Given the description of an element on the screen output the (x, y) to click on. 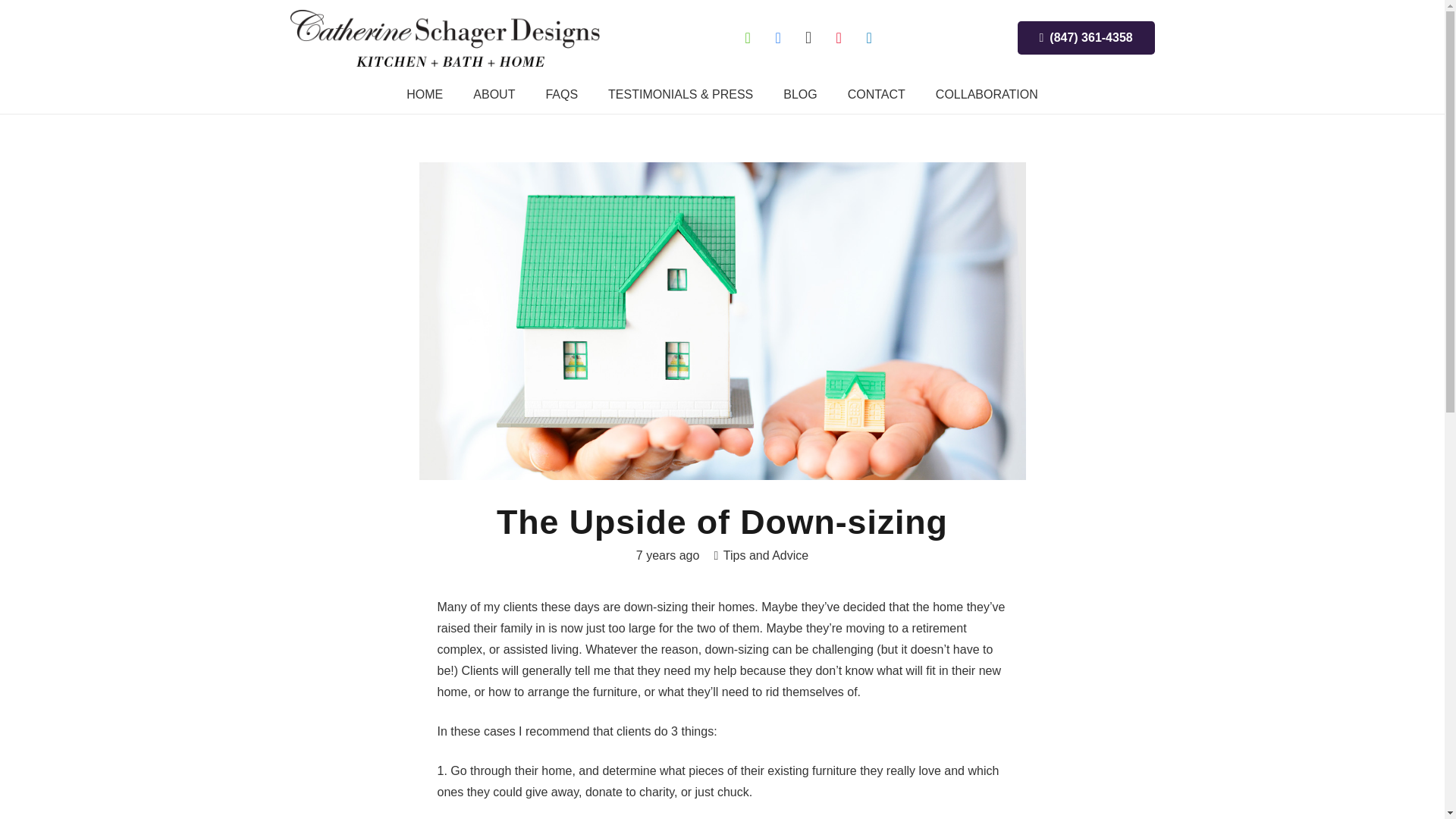
ABOUT (493, 94)
Houzz (747, 37)
COLLABORATION (986, 94)
BLOG (799, 94)
FAQS (560, 94)
Instagram (808, 37)
Facebook (777, 37)
Pinterest (838, 37)
CONTACT (876, 94)
Tips and Advice (765, 554)
HOME (424, 94)
LinkedIn (868, 37)
